Given the description of an element on the screen output the (x, y) to click on. 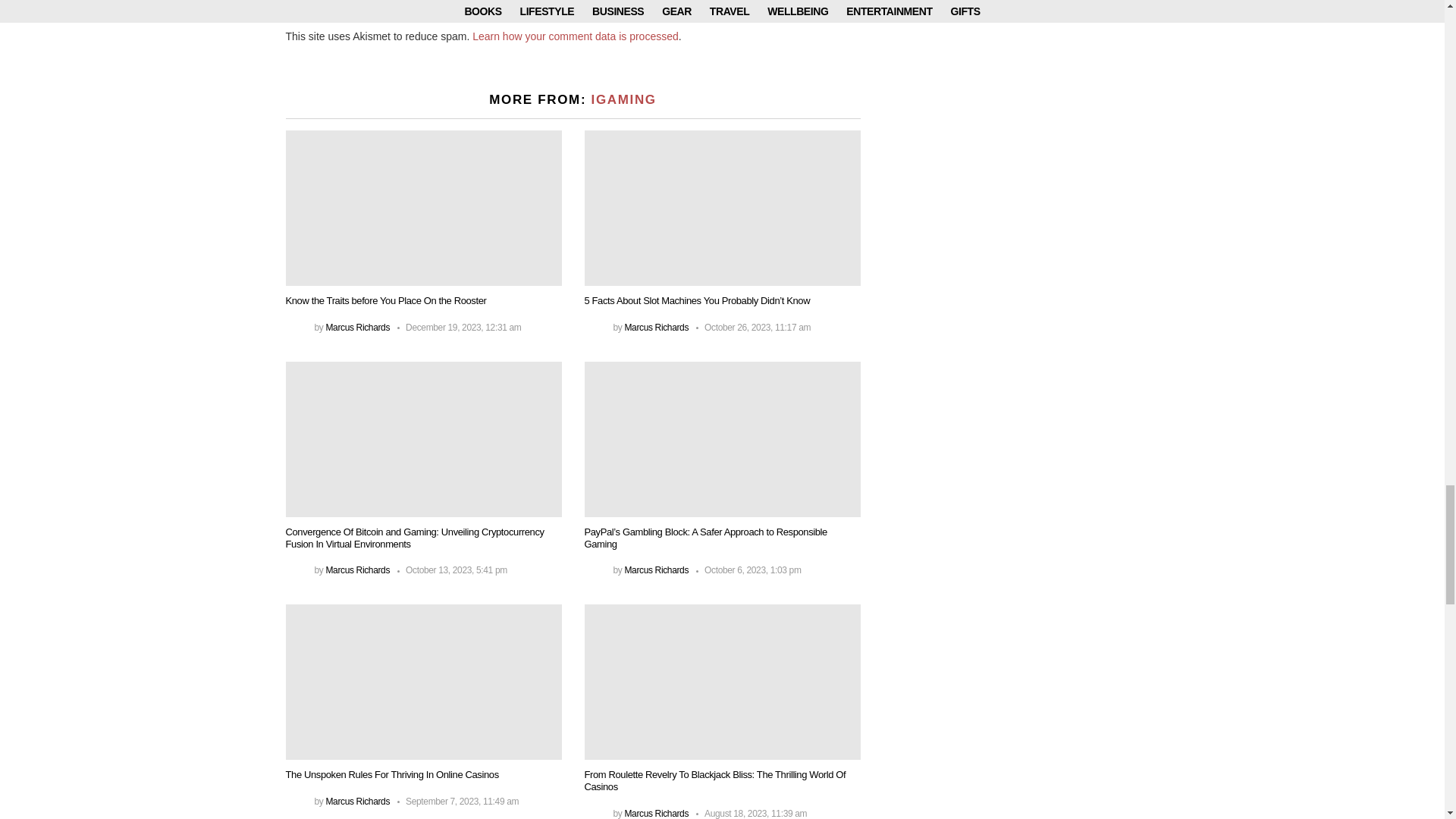
Posts by Marcus Richards (656, 327)
Posts by Marcus Richards (357, 570)
Posts by Marcus Richards (357, 801)
Posts by Marcus Richards (656, 570)
Post Comment (377, 6)
Posts by Marcus Richards (357, 327)
The Unspoken Rules For Thriving In Online Casinos (422, 682)
Posts by Marcus Richards (656, 813)
